Given the description of an element on the screen output the (x, y) to click on. 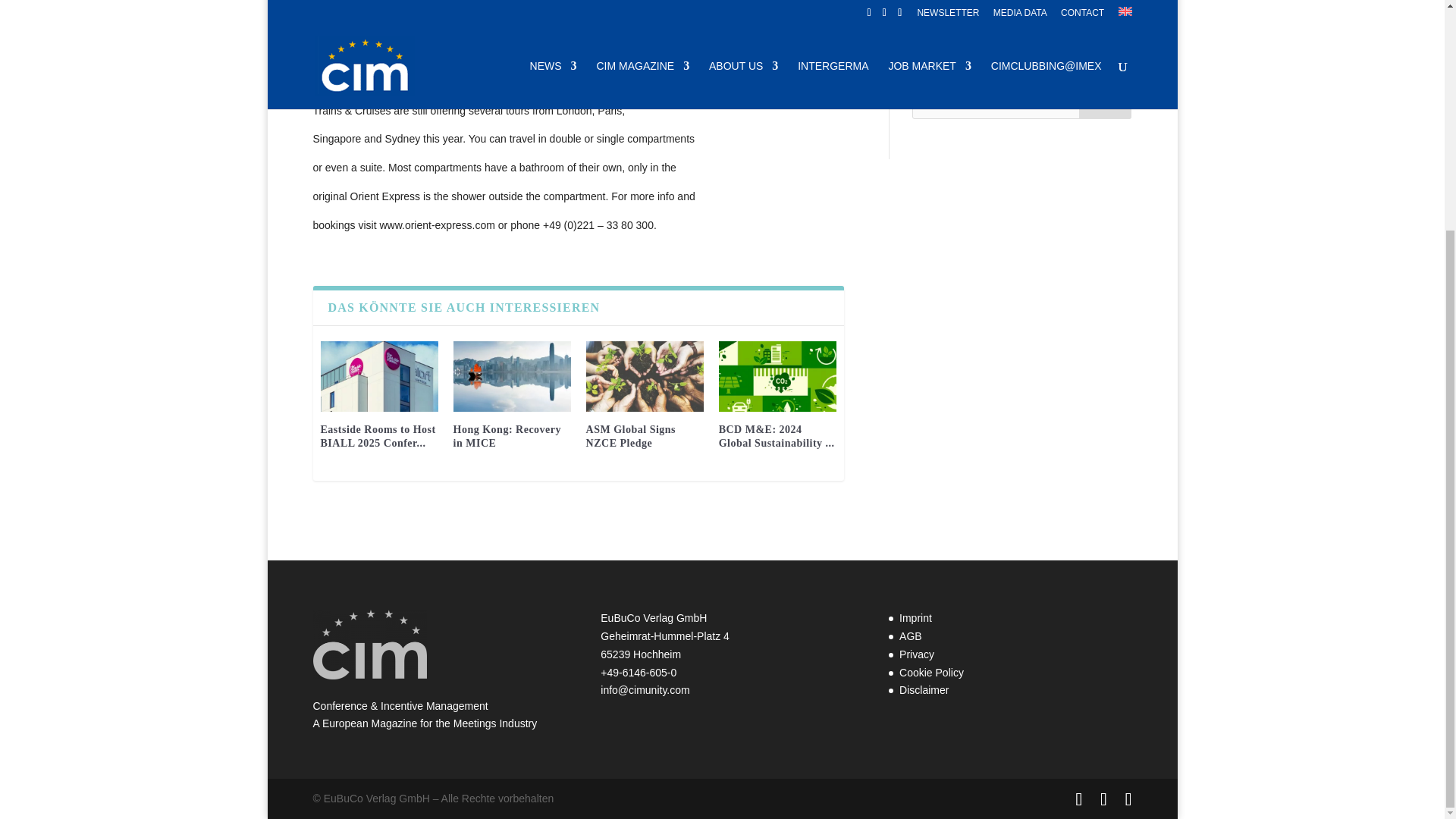
ASM Global Signs NZCE Pledge (644, 376)
ASM Global Signs NZCE Pledge (630, 436)
Eastside Rooms to Host BIALL 2025 Confer... (377, 436)
Hong Kong: Recovery in MICE (506, 436)
Eastside Rooms to Host BIALL 2025 Conference in Birmingham (379, 376)
Hong Kong: Recovery in MICE (511, 376)
